Given the description of an element on the screen output the (x, y) to click on. 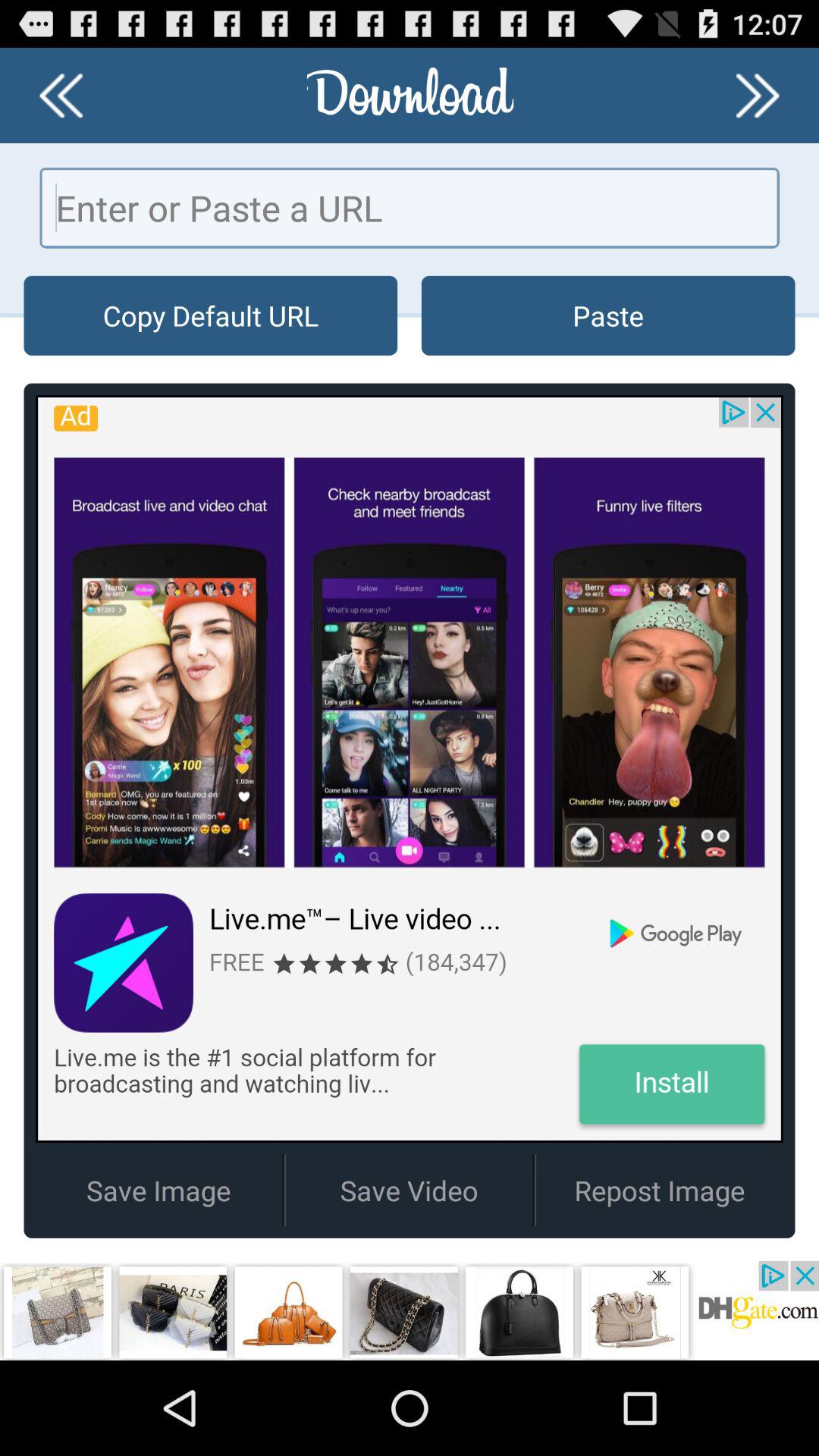
opens an advertisement (409, 1310)
